Given the description of an element on the screen output the (x, y) to click on. 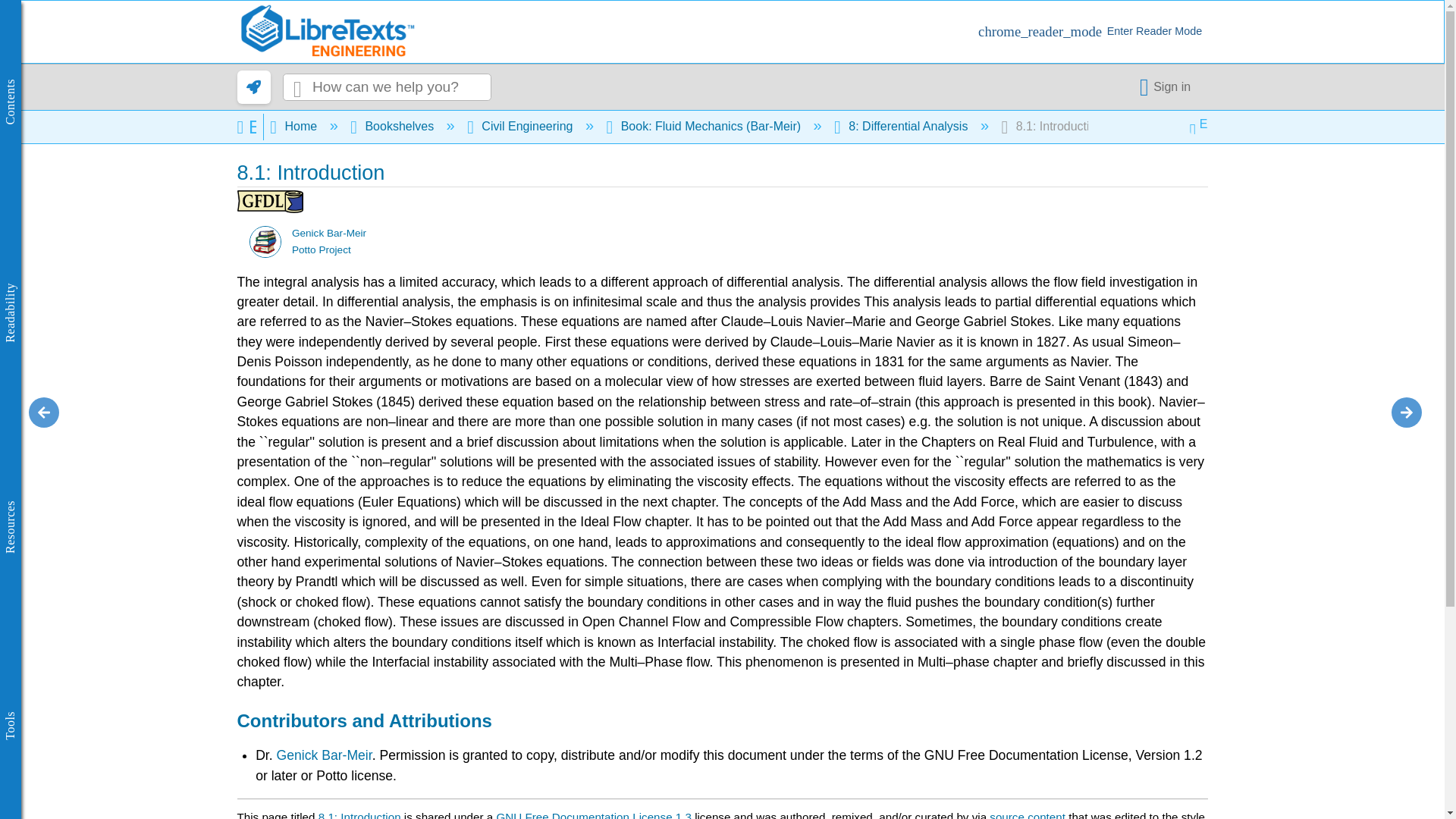
Genick Bar-Meir (265, 241)
Single Sign-On (1167, 86)
